Given the description of an element on the screen output the (x, y) to click on. 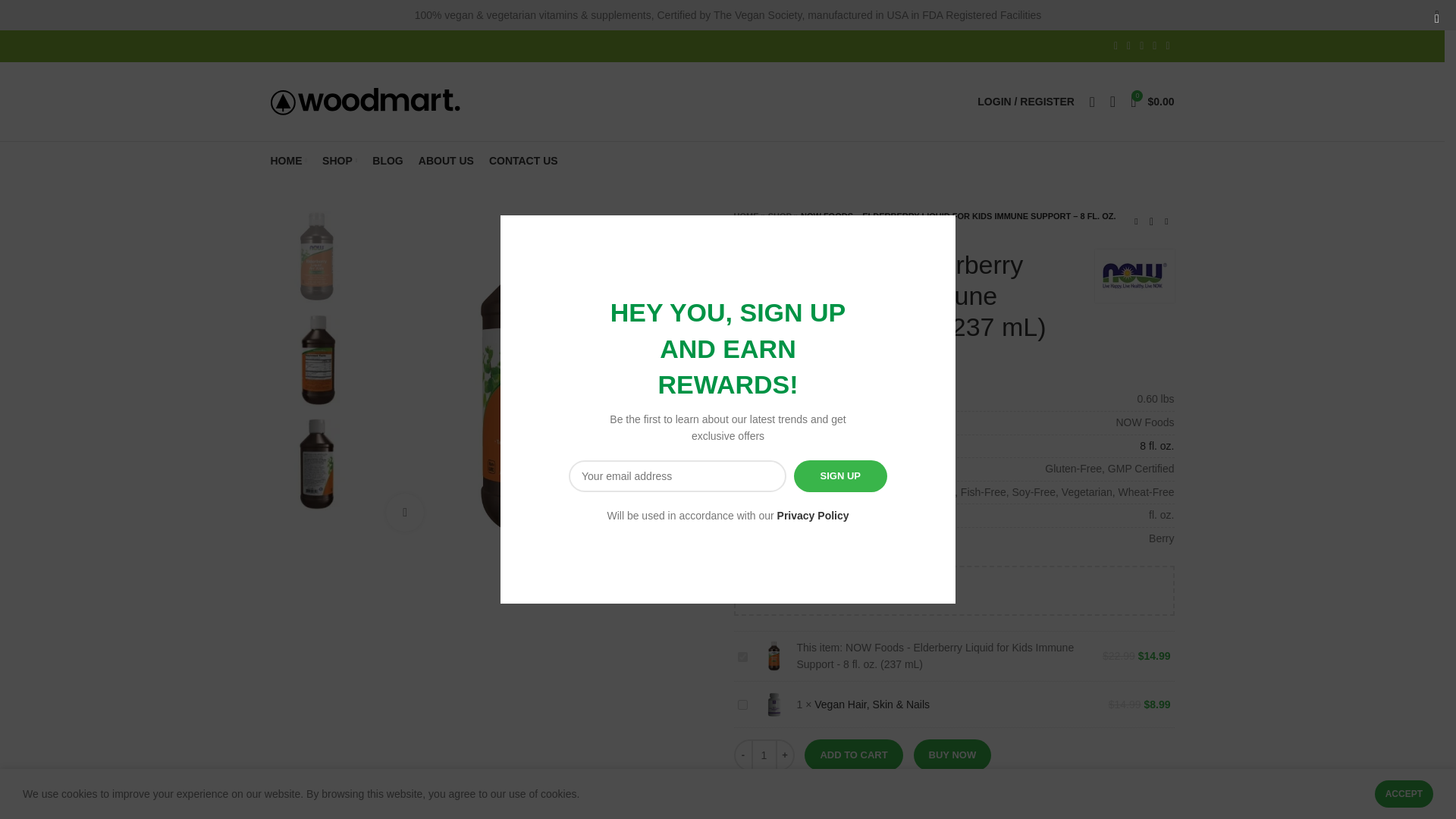
ABOUT US (445, 160)
SHOP (339, 160)
on (741, 656)
HOME (288, 160)
SHOP (780, 215)
now-foods-elderberry-liquid-for-kids-immune-support (316, 464)
HOME (745, 215)
My account (1025, 101)
elderberry-liquid-for-kids (316, 256)
8520 (741, 705)
CONTACT US (523, 160)
Log in (948, 340)
BLOG (387, 160)
elderberry-liquid-for-kids (542, 375)
Shopping cart (1151, 101)
